Given the description of an element on the screen output the (x, y) to click on. 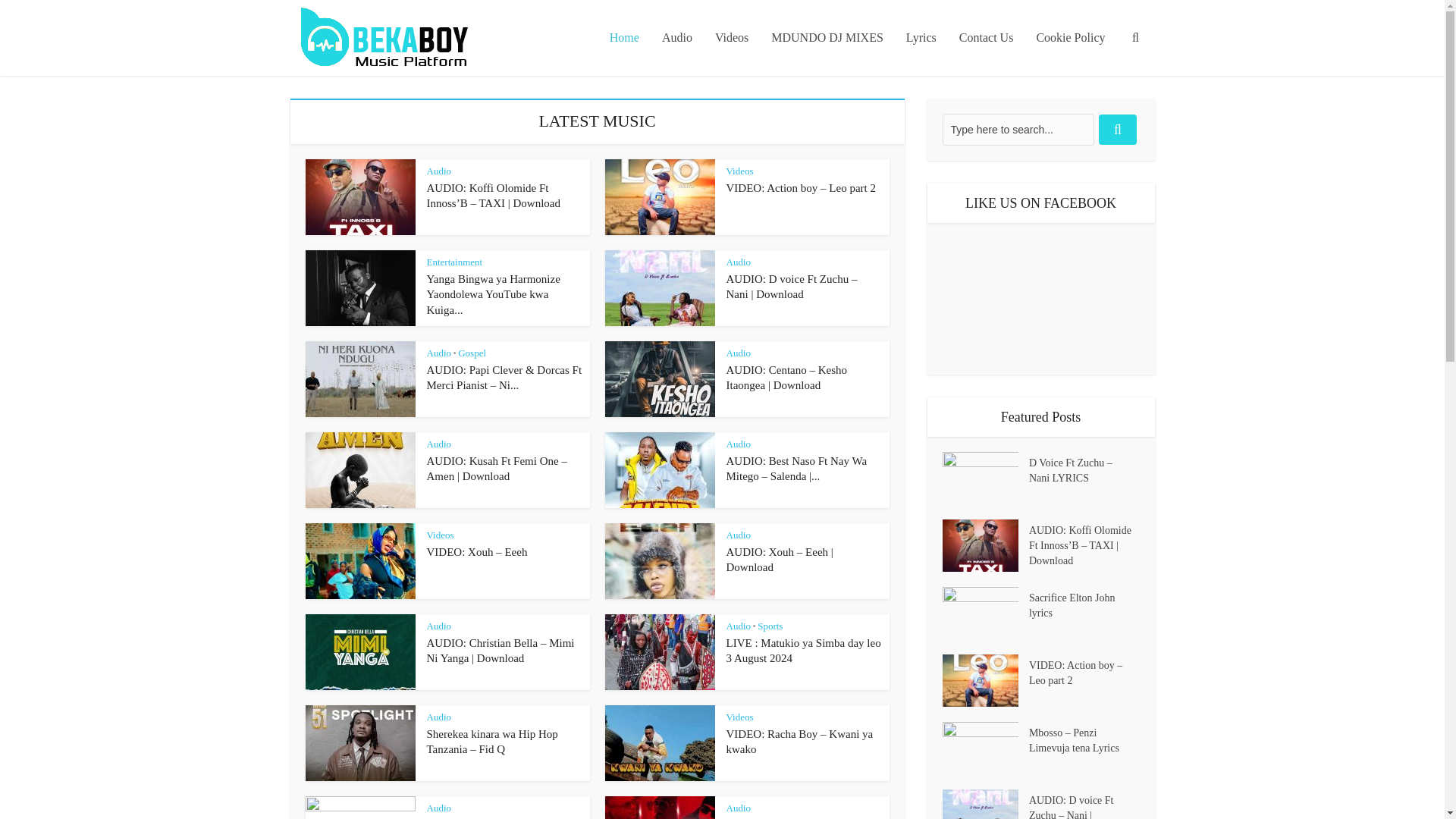
MDUNDO DJ MIXES (827, 38)
Contact Us (986, 38)
Audio (738, 352)
Videos (439, 534)
Yanga Bingwa ya Harmonize Yaondolewa YouTube kwa Kuiga... (492, 294)
Videos (740, 170)
Audio (438, 443)
Type here to search... (1017, 129)
Type here to search... (1017, 129)
Gospel (472, 352)
